Given the description of an element on the screen output the (x, y) to click on. 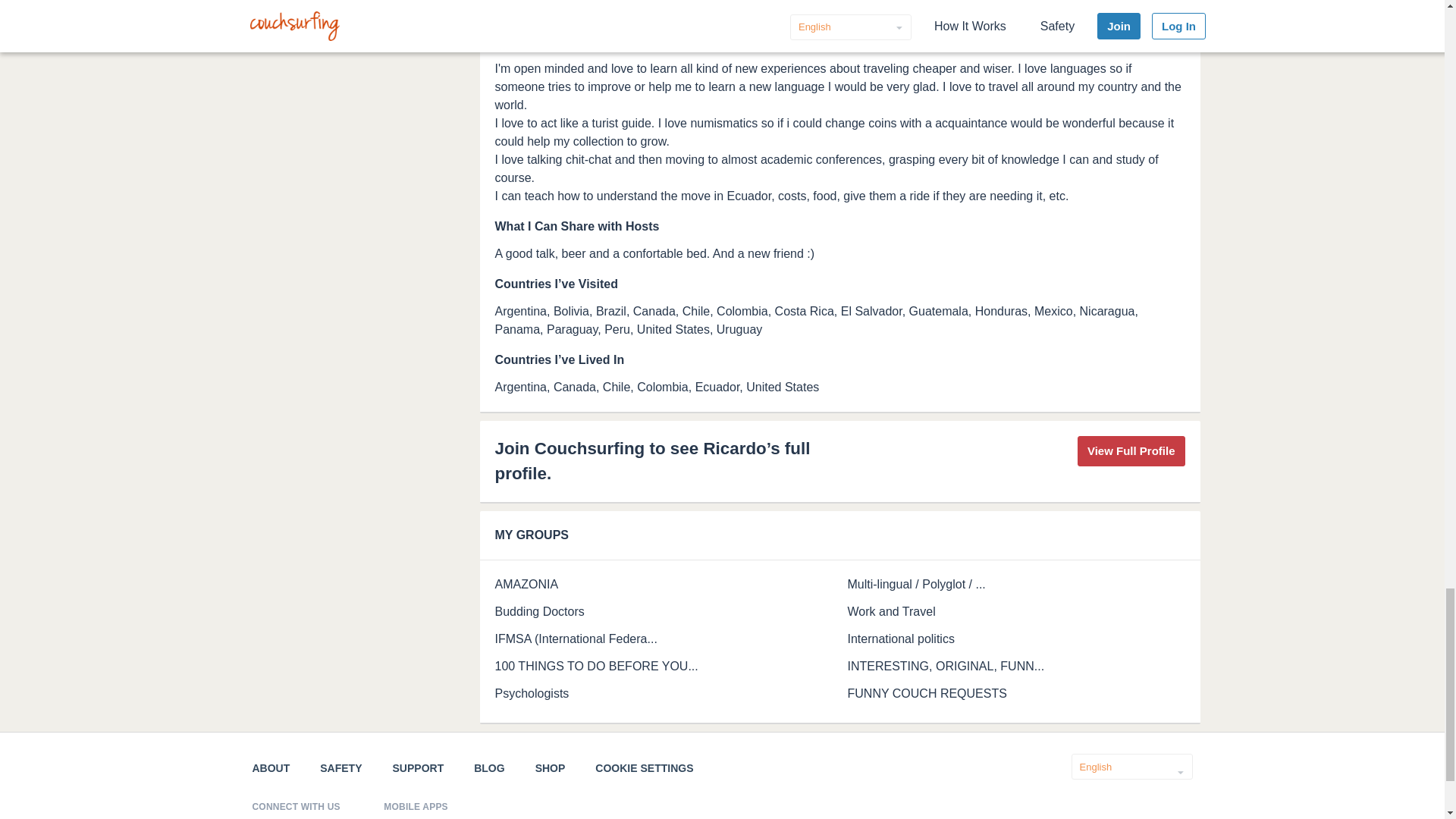
FUNNY COUCH REQUESTS (927, 693)
SAFETY (340, 767)
100 THINGS TO DO BEFORE YOU... (596, 666)
COOKIE SETTINGS (644, 767)
View Full Profile (1131, 450)
Psychologists (532, 693)
ABOUT (270, 767)
Work and Travel (891, 611)
SHOP (550, 767)
International politics (901, 638)
BLOG (488, 767)
AMAZONIA (526, 584)
INTERESTING, ORIGINAL, FUNN... (946, 666)
Budding Doctors (539, 611)
SUPPORT (418, 767)
